Given the description of an element on the screen output the (x, y) to click on. 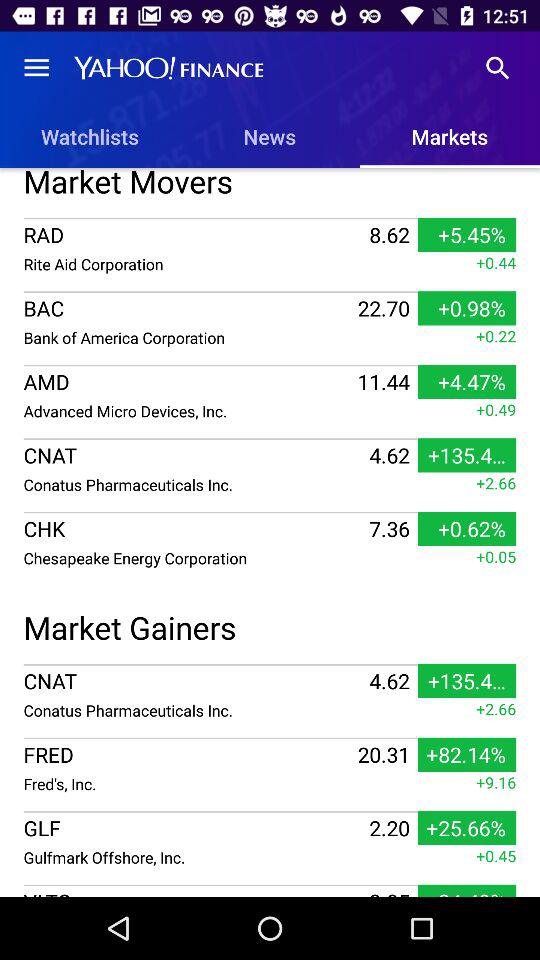
open the icon next to 20.31 icon (187, 783)
